Given the description of an element on the screen output the (x, y) to click on. 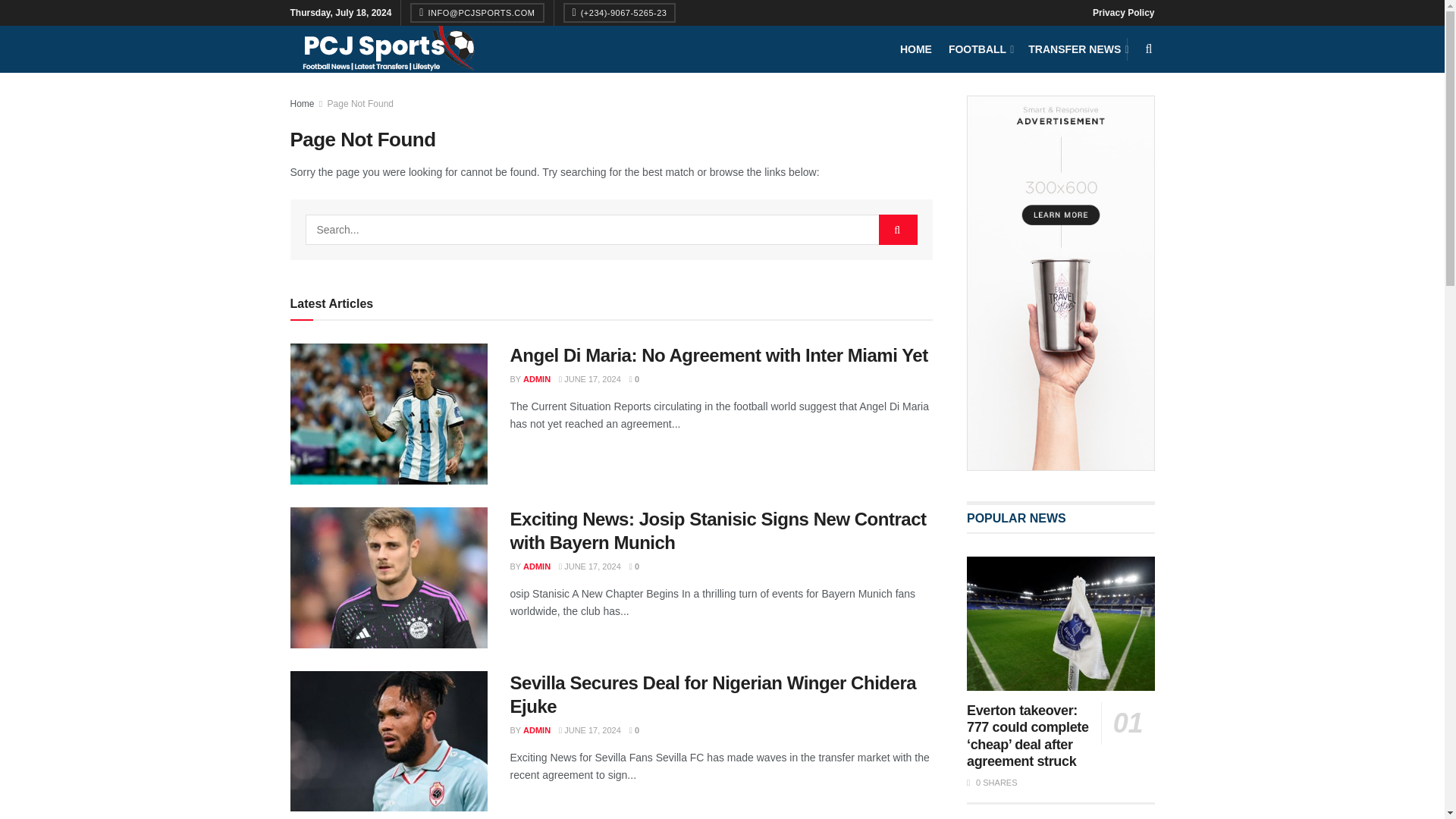
TRANSFER NEWS (1076, 48)
FOOTBALL (980, 48)
Privacy Policy (1123, 12)
